Given the description of an element on the screen output the (x, y) to click on. 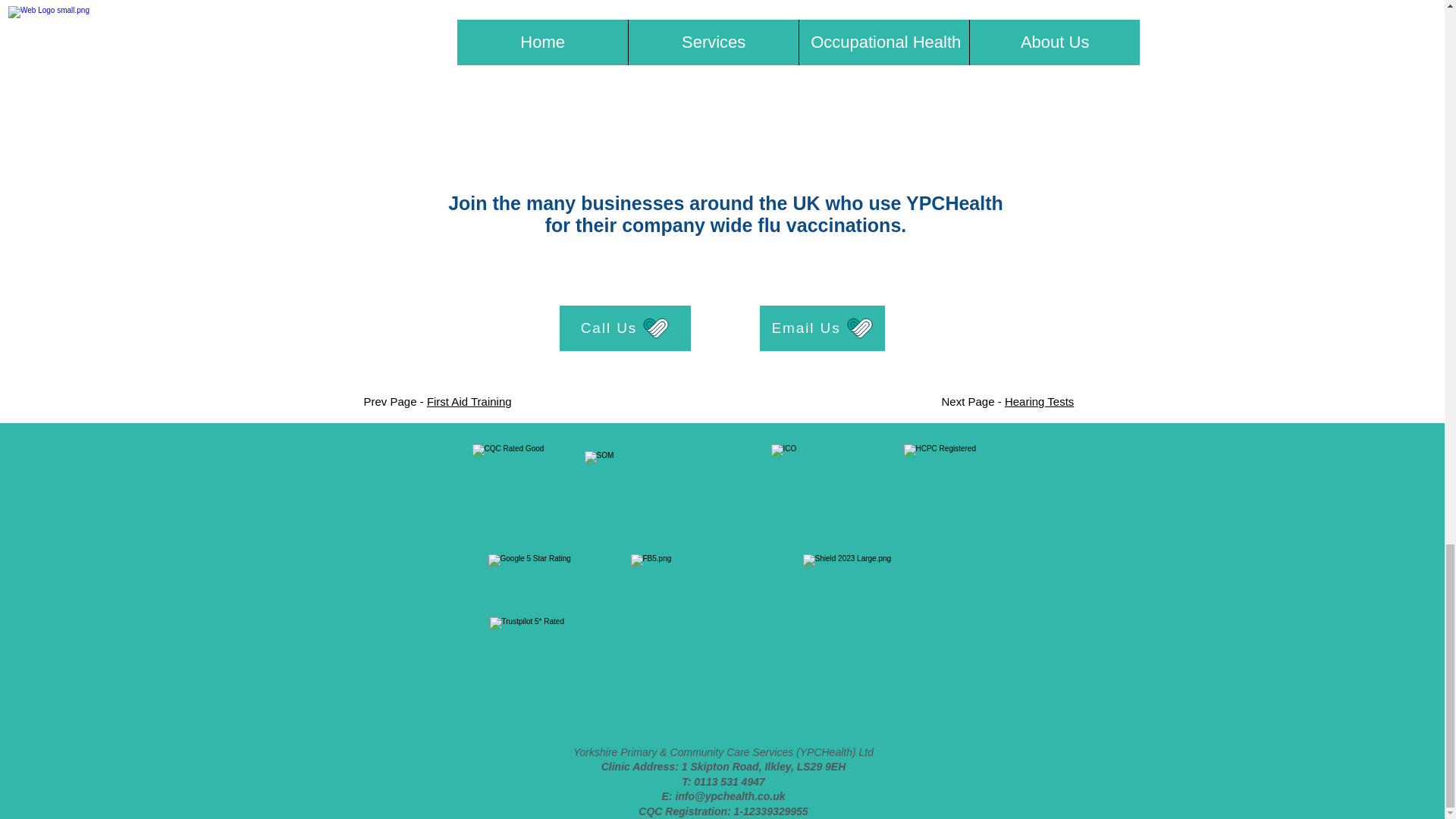
HCPC Regisered (949, 490)
ICO Registered (821, 490)
Call Us (624, 328)
Email Us (822, 328)
CQC Inspected and rated Good (516, 488)
First Aid Training (469, 400)
What Clinic Award 2023 (888, 632)
Hearing Tests (1039, 400)
Supporting Occupational Health and Wellbeing Professionals (662, 489)
